Given the description of an element on the screen output the (x, y) to click on. 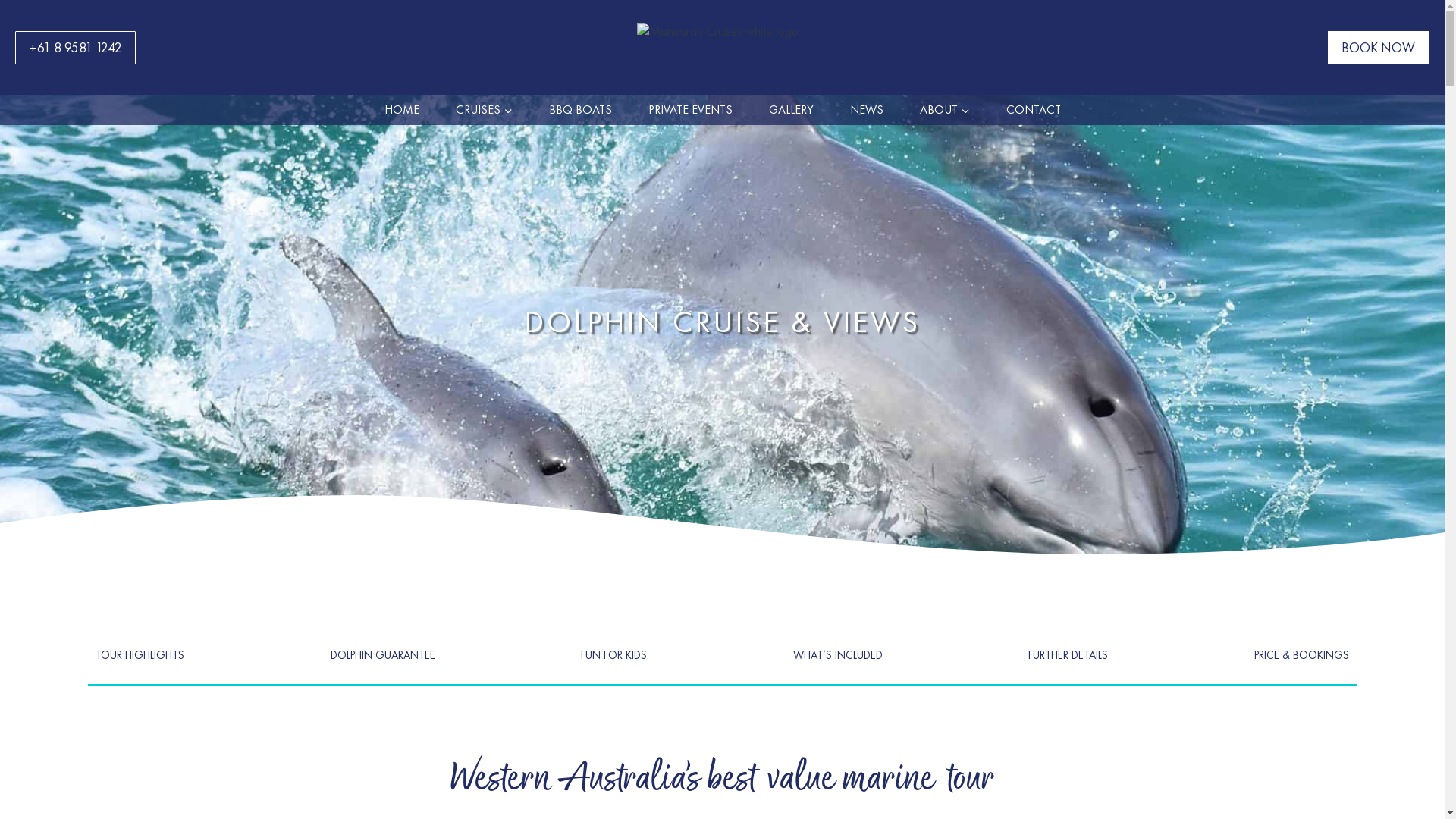
+61 8 9581 1242 Element type: text (75, 47)
PRIVATE EVENTS Element type: text (689, 109)
TOUR HIGHLIGHTS Element type: text (139, 654)
HOME Element type: text (400, 109)
BBQ BOATS Element type: text (580, 109)
FUN FOR KIDS Element type: text (613, 654)
CONTACT Element type: text (1032, 109)
FURTHER DETAILS Element type: text (1067, 654)
BOOK NOW Element type: text (1378, 47)
PRICE & BOOKINGS Element type: text (1301, 654)
CRUISES Element type: text (483, 109)
ABOUT Element type: text (943, 109)
GALLERY Element type: text (790, 109)
DOLPHIN GUARANTEE Element type: text (382, 654)
NEWS Element type: text (865, 109)
